Given the description of an element on the screen output the (x, y) to click on. 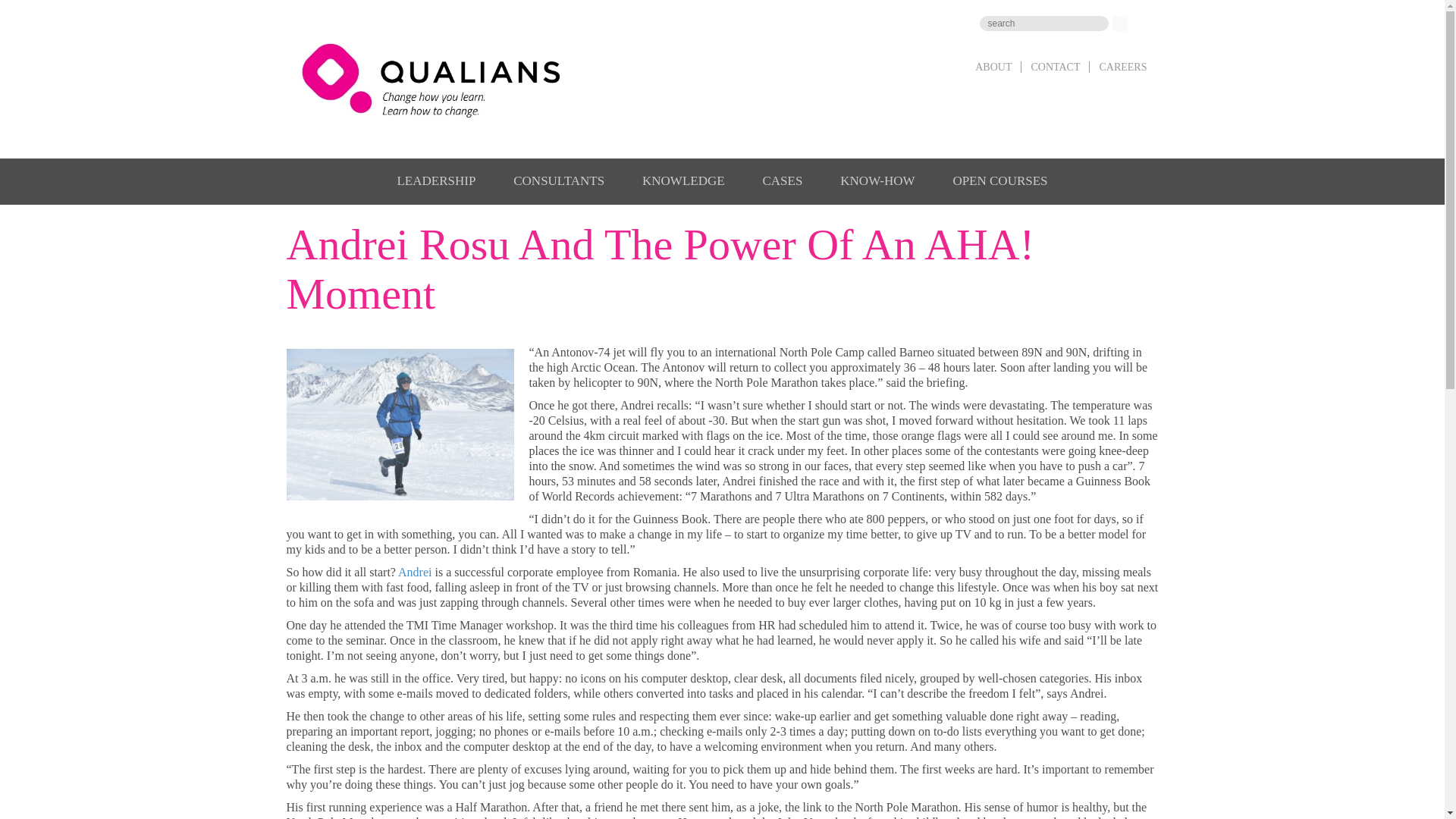
CASES (781, 180)
ABOUT (993, 67)
KNOWLEDGE (683, 180)
Andrei (413, 571)
CONTACT (1055, 67)
Qualians (437, 84)
CONSULTANTS (558, 180)
OPEN COURSES (999, 180)
LEADERSHIP (436, 180)
KNOW-HOW (877, 180)
CAREERS (1123, 67)
